Given the description of an element on the screen output the (x, y) to click on. 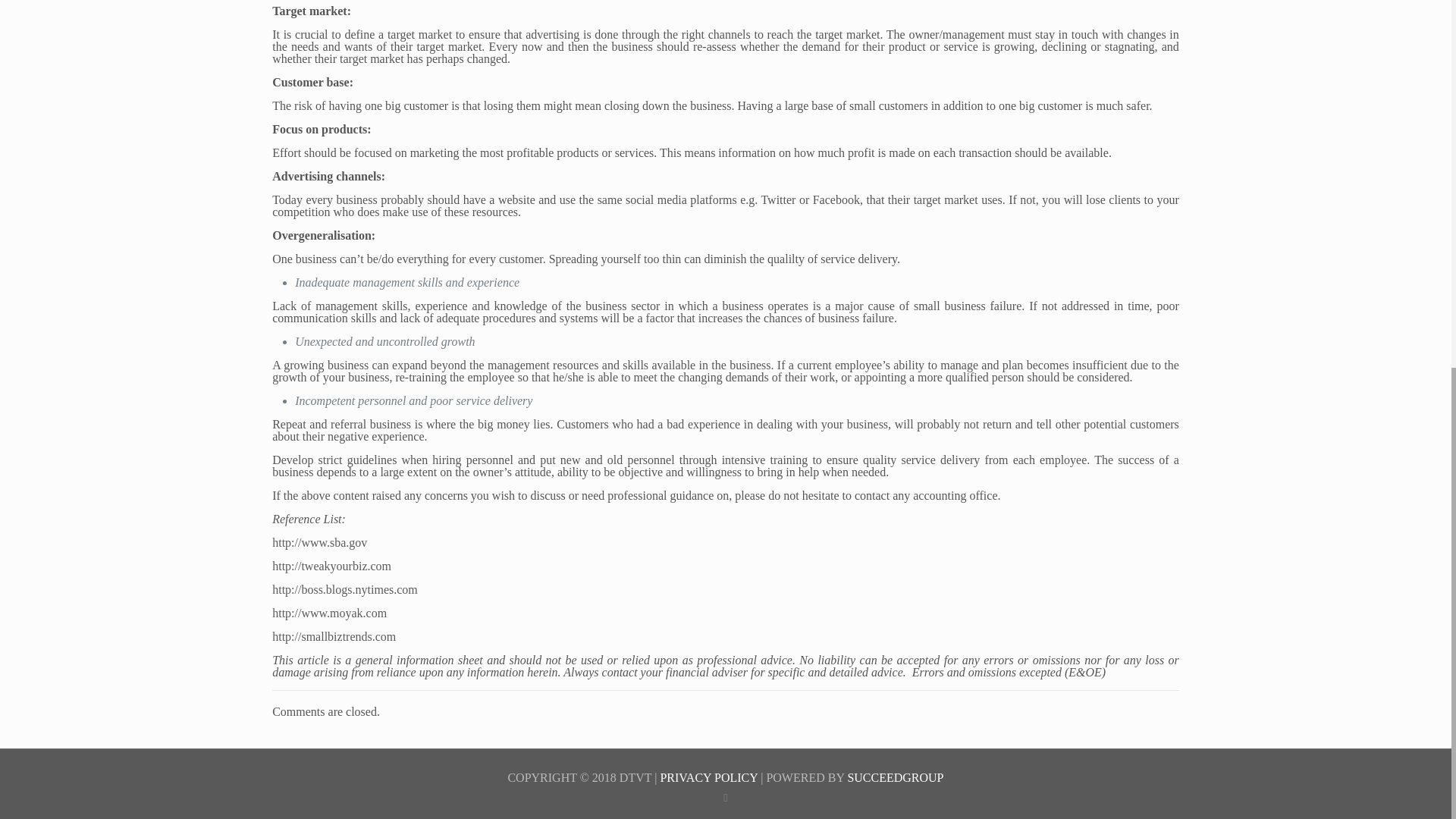
LinkedIn (725, 797)
SUCCEEDGROUP (895, 777)
PRIVACY POLICY (708, 777)
